Given the description of an element on the screen output the (x, y) to click on. 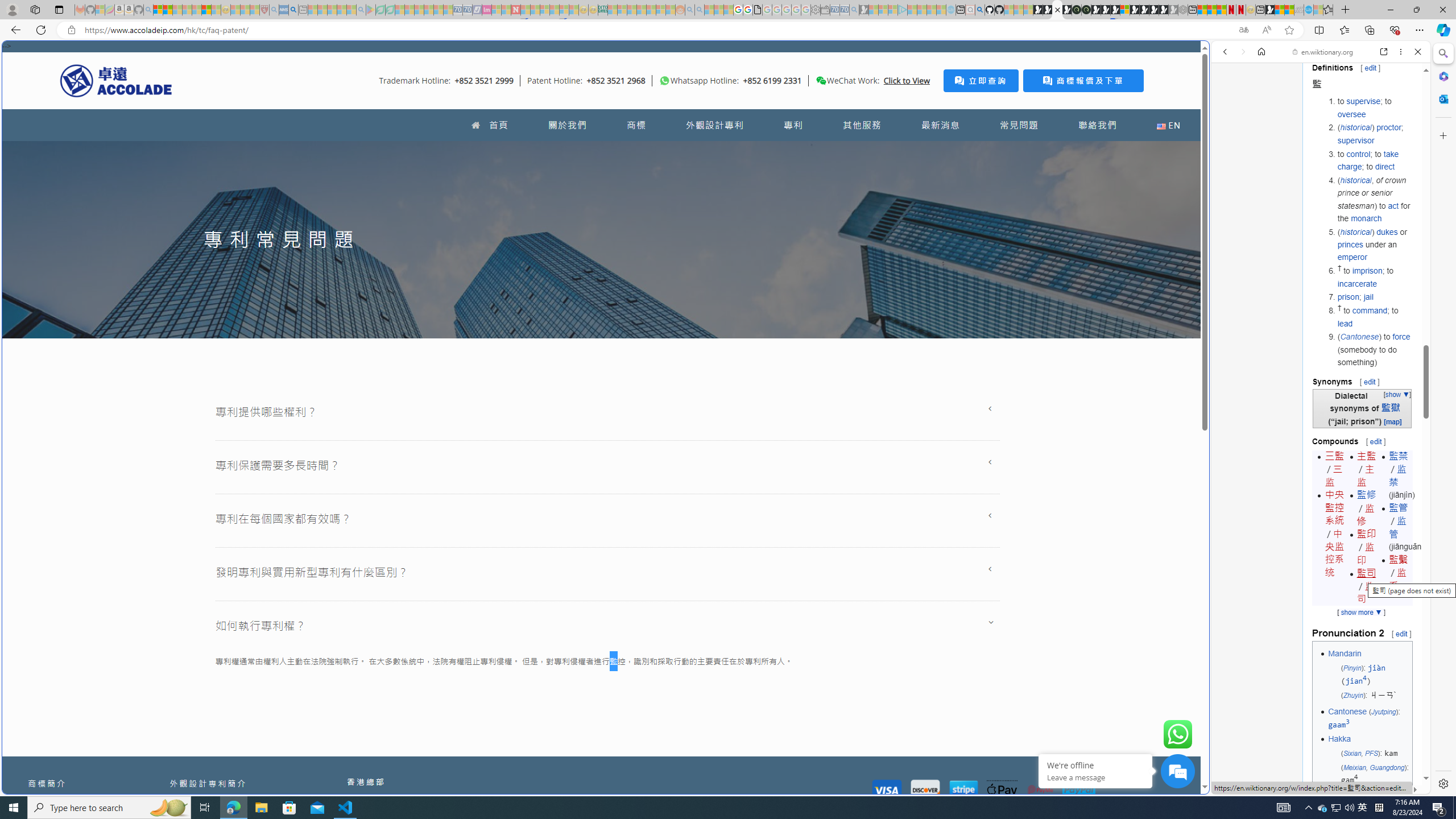
google_privacy_policy_zh-CN.pdf (757, 9)
EN (1168, 124)
Wallet - Sleeping (824, 9)
New tab - Sleeping (303, 9)
to supervise; to oversee (1374, 107)
Cantonese (Jyutping): gaam3 (1368, 718)
(historical) proctor; supervisor (1374, 134)
Pinyin (1351, 667)
